Given the description of an element on the screen output the (x, y) to click on. 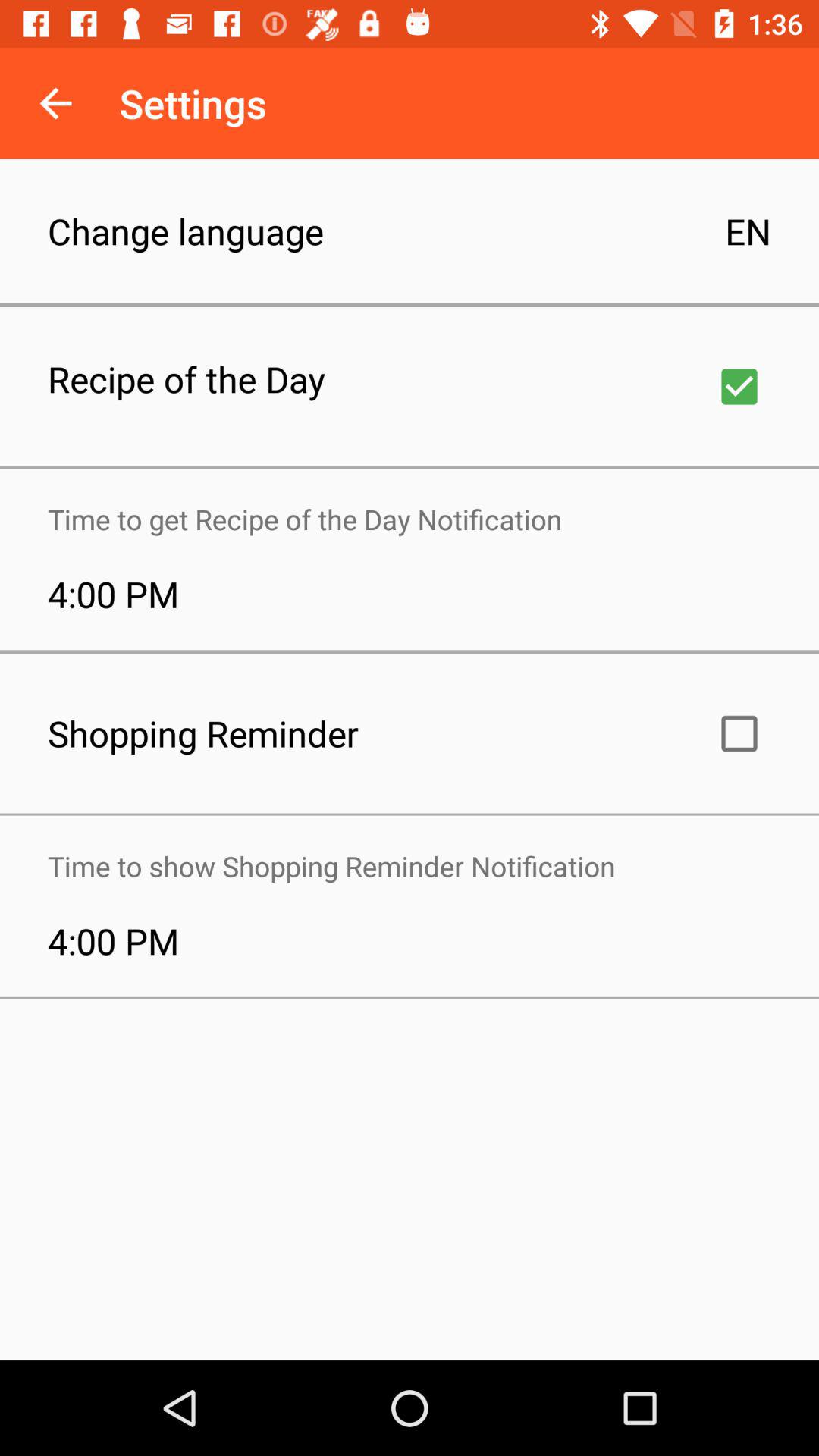
toggle alarm (739, 733)
